Given the description of an element on the screen output the (x, y) to click on. 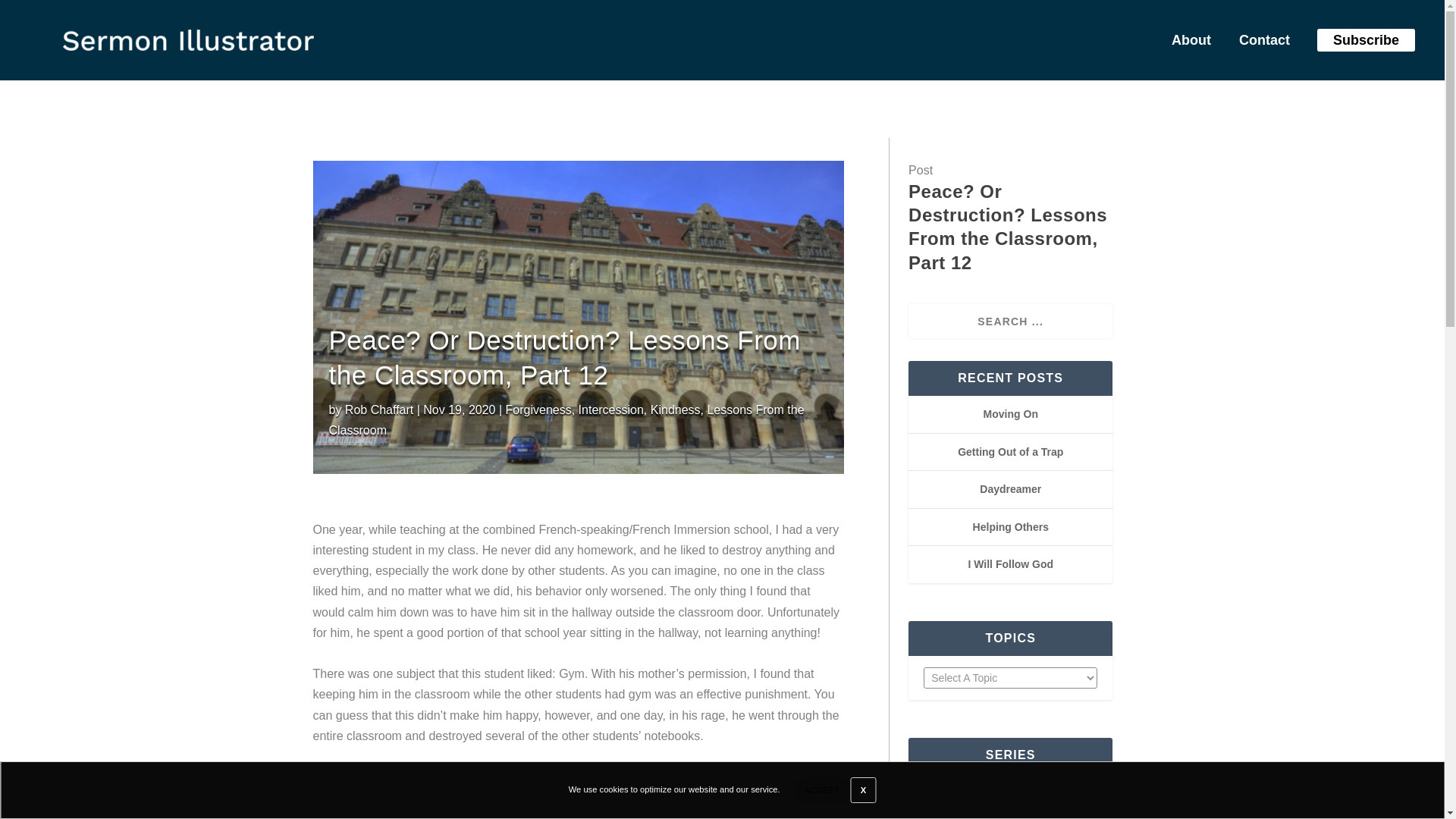
New Project (188, 39)
Rob Chaffart (379, 409)
Intercession (610, 409)
Kindness (675, 409)
I Will Follow God (1010, 563)
Posts by Rob Chaffart (379, 409)
About (1185, 43)
Daydreamer (1010, 489)
X (863, 790)
Moving On (1011, 413)
Helping Others (1010, 526)
Subscribe (1365, 39)
Contact (1258, 43)
Forgiveness (538, 409)
ACCEPT (821, 790)
